Given the description of an element on the screen output the (x, y) to click on. 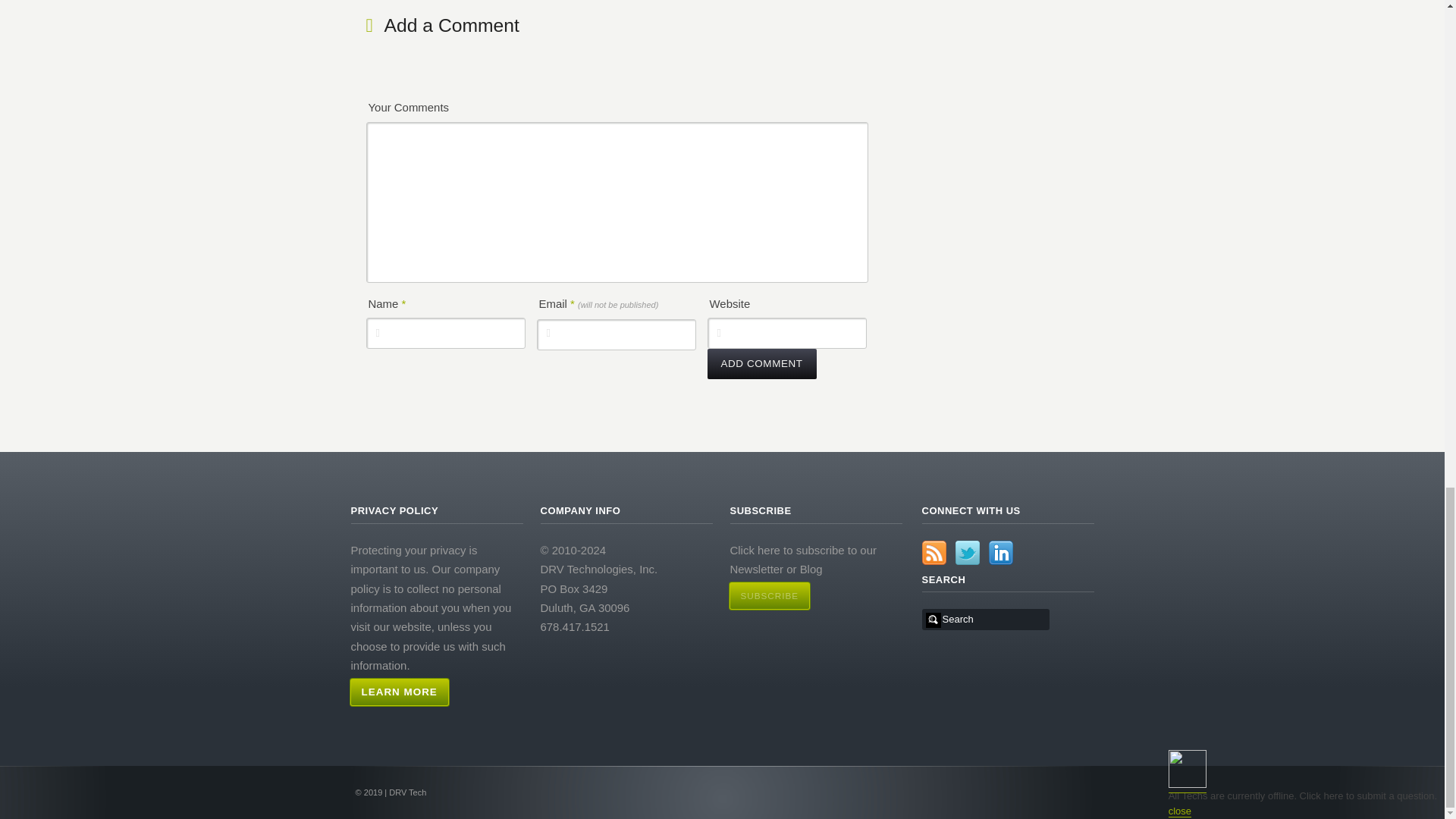
LinkedIn (1000, 552)
Twitter (967, 552)
Search (987, 618)
RSS Feed (933, 552)
Add Comment (760, 363)
